Given the description of an element on the screen output the (x, y) to click on. 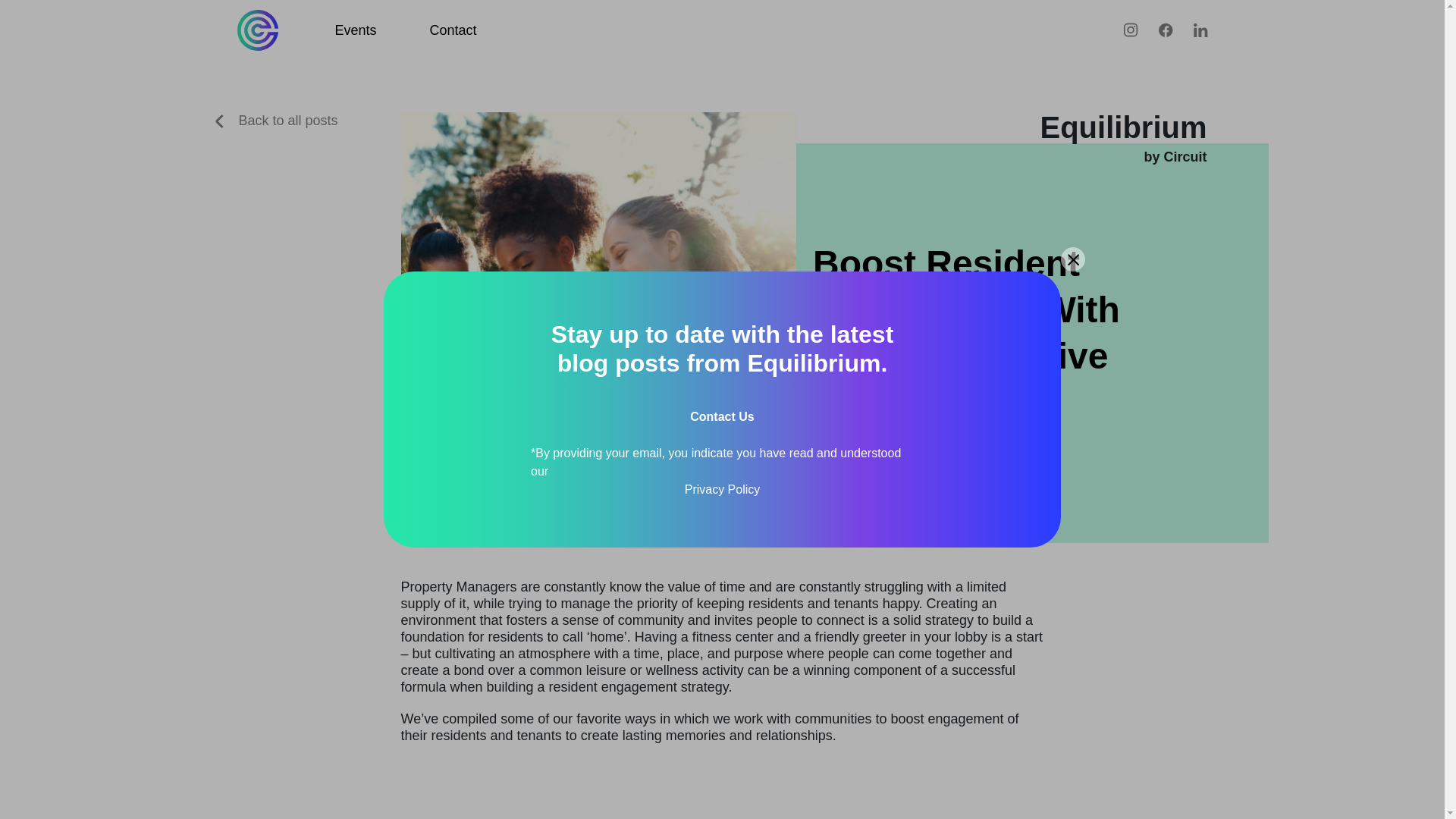
Events (355, 29)
Contact (453, 29)
Back to all posts (276, 120)
Contact Us (722, 416)
Privacy Policy (722, 489)
